Given the description of an element on the screen output the (x, y) to click on. 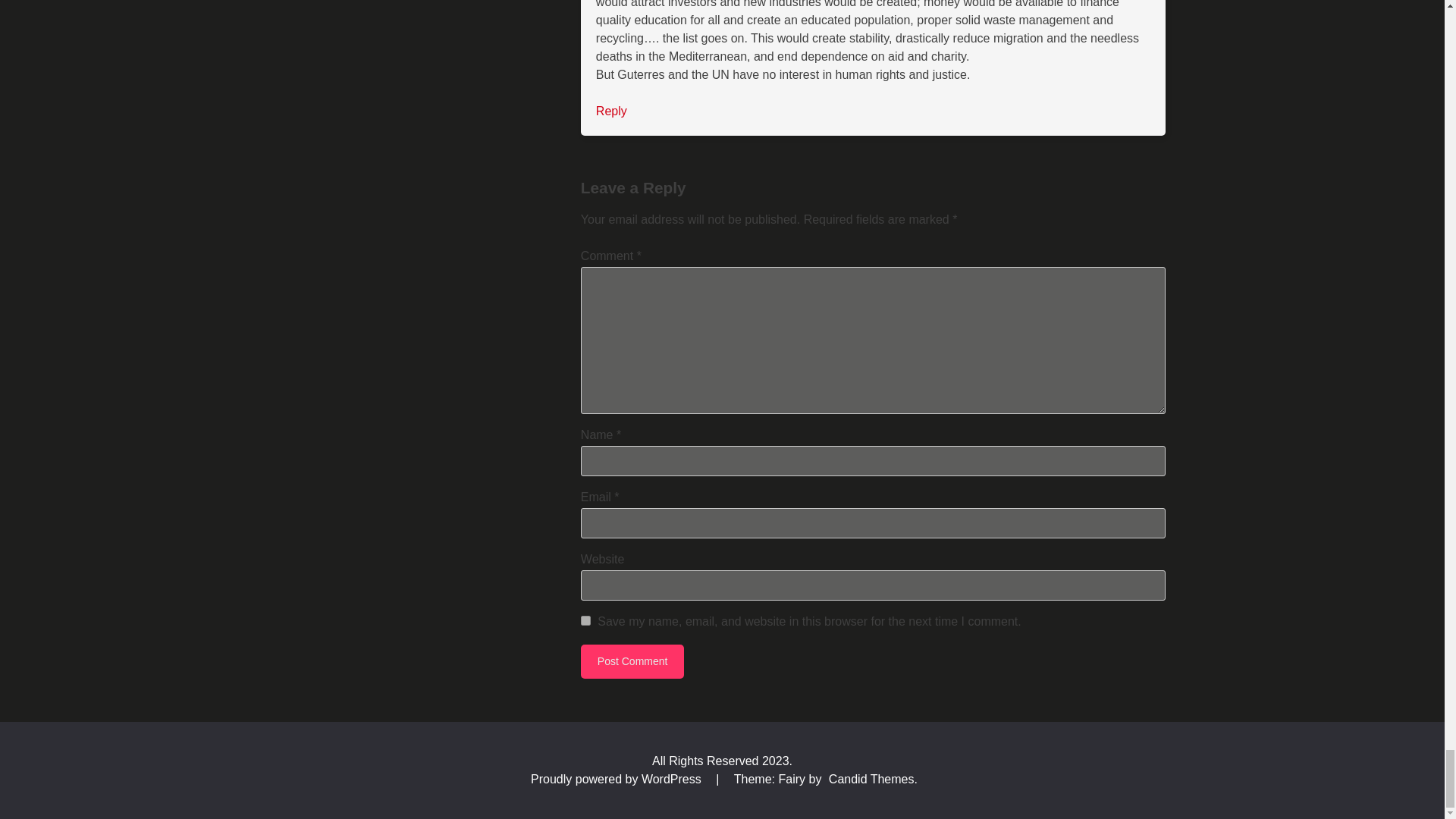
Post Comment (632, 661)
yes (585, 620)
